Given the description of an element on the screen output the (x, y) to click on. 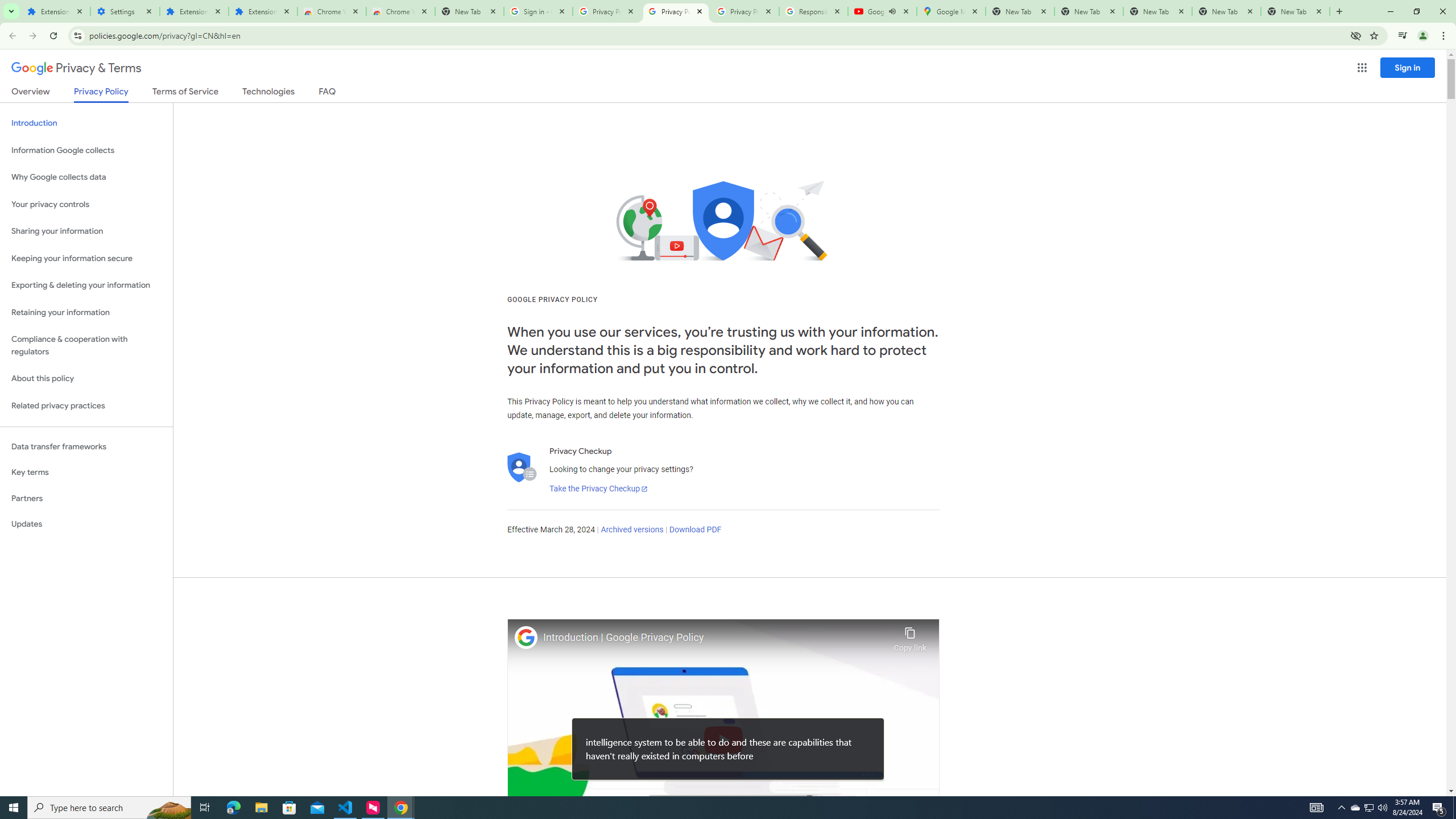
New Tab (1295, 11)
Privacy Policy (100, 94)
Download PDF (695, 529)
Chrome Web Store - Themes (400, 11)
Related privacy practices (86, 405)
Overview (30, 93)
Data transfer frameworks (86, 446)
Chrome Web Store (331, 11)
Google Maps (950, 11)
